Given the description of an element on the screen output the (x, y) to click on. 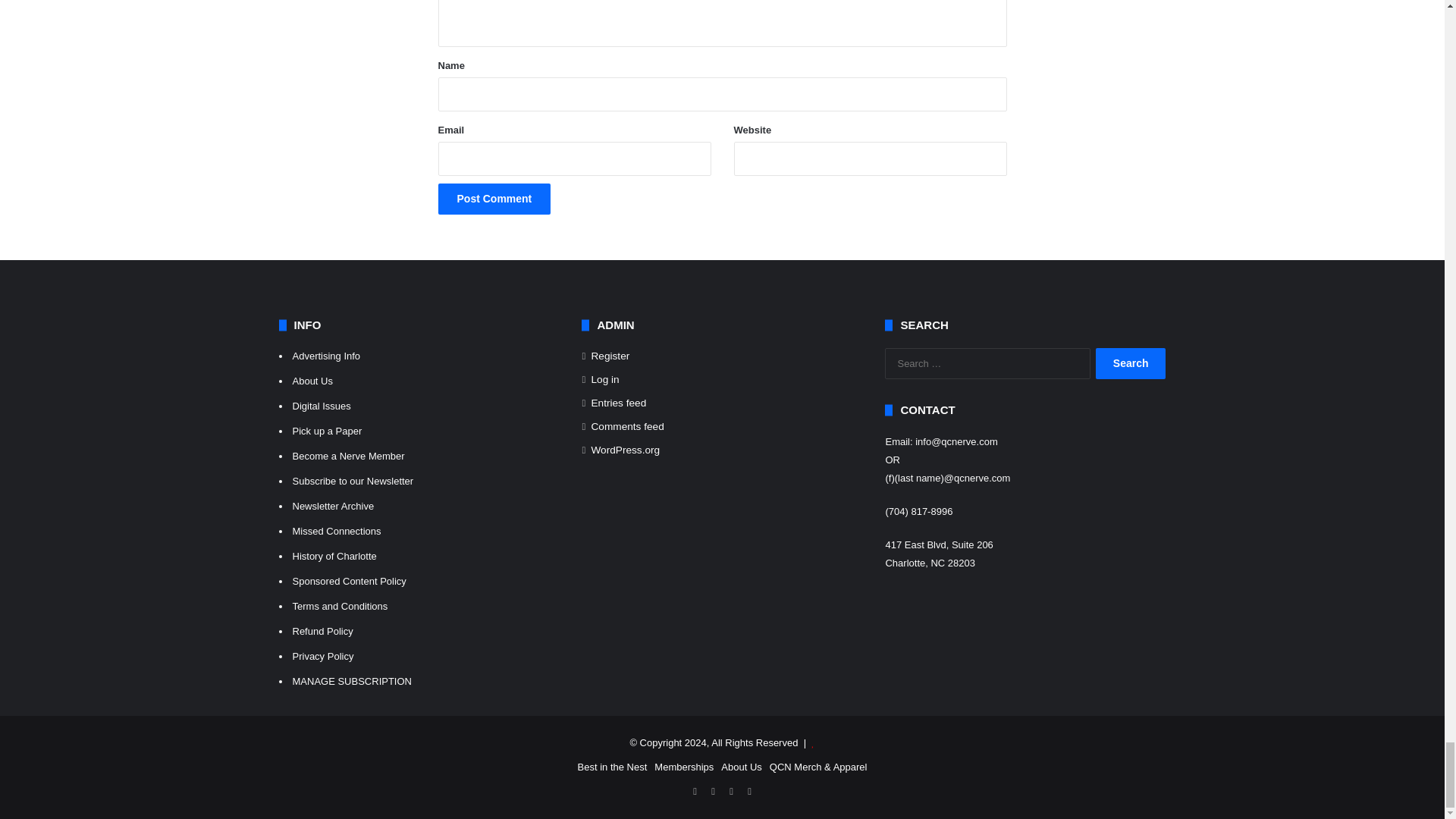
Search (1131, 363)
Post Comment (494, 198)
Search (1131, 363)
